Given the description of an element on the screen output the (x, y) to click on. 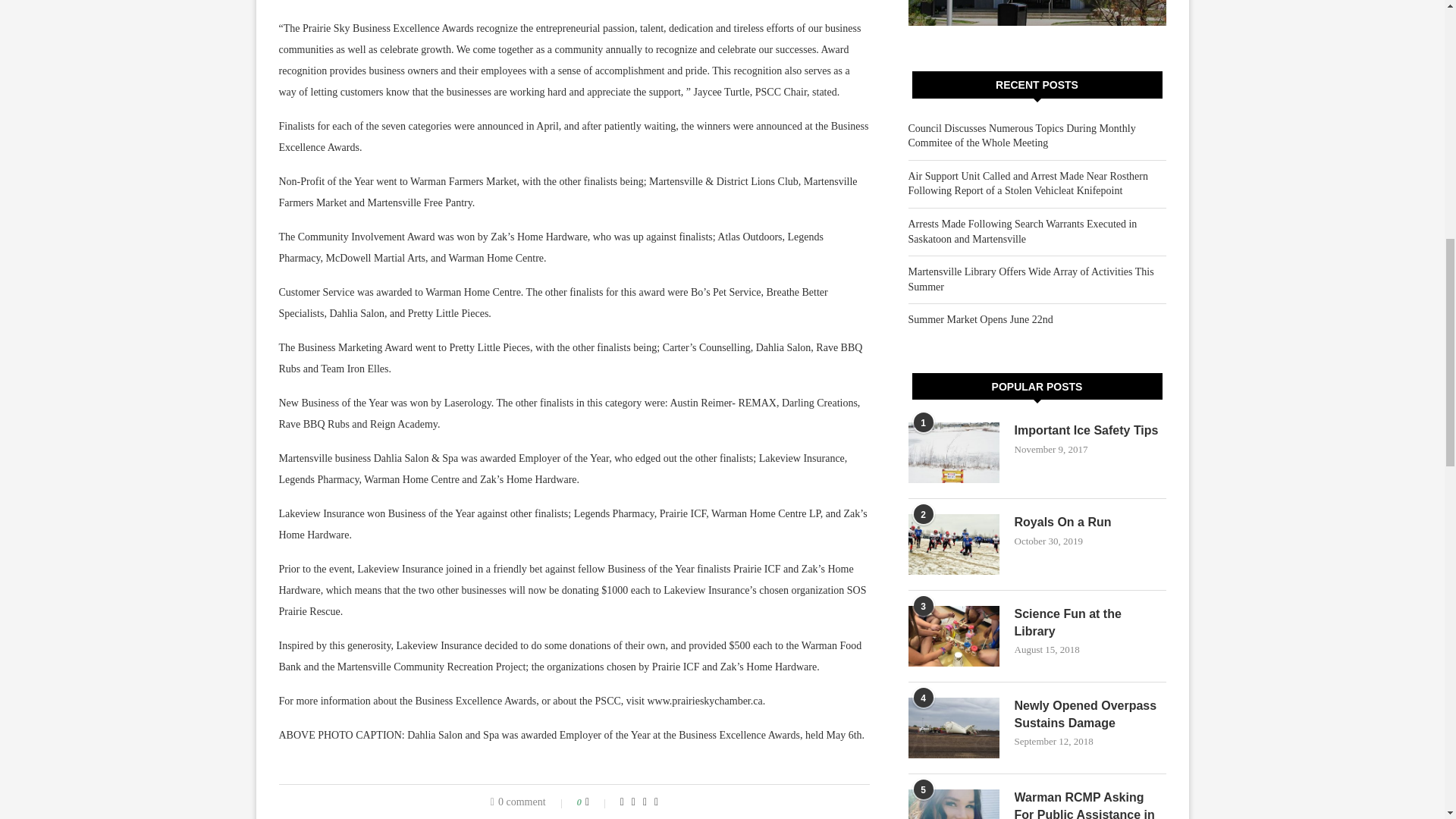
Like (597, 802)
